Given the description of an element on the screen output the (x, y) to click on. 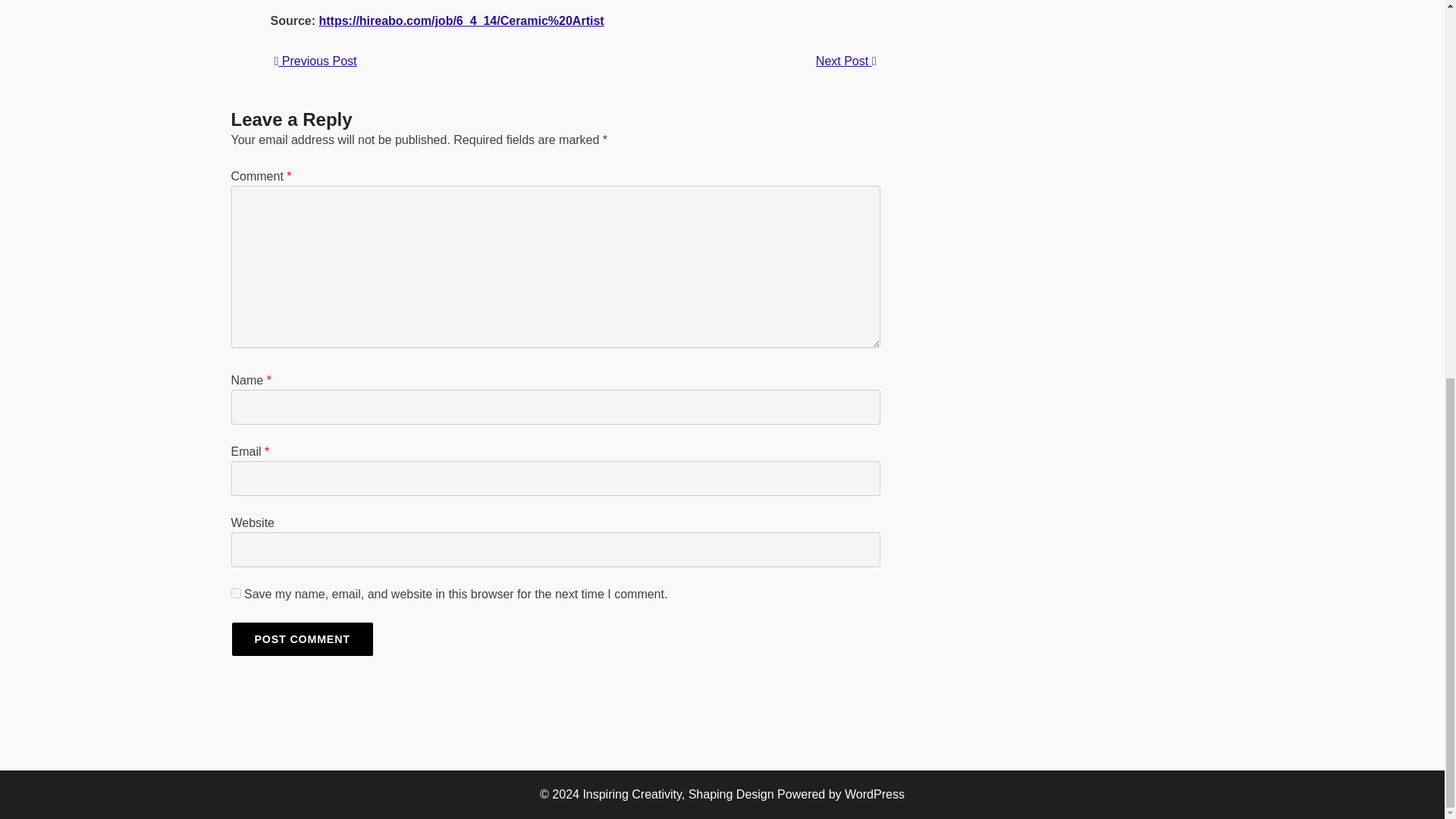
Post Comment (301, 638)
Post Comment (301, 638)
Next Post (845, 61)
yes (235, 593)
Previous Post (315, 60)
